Given the description of an element on the screen output the (x, y) to click on. 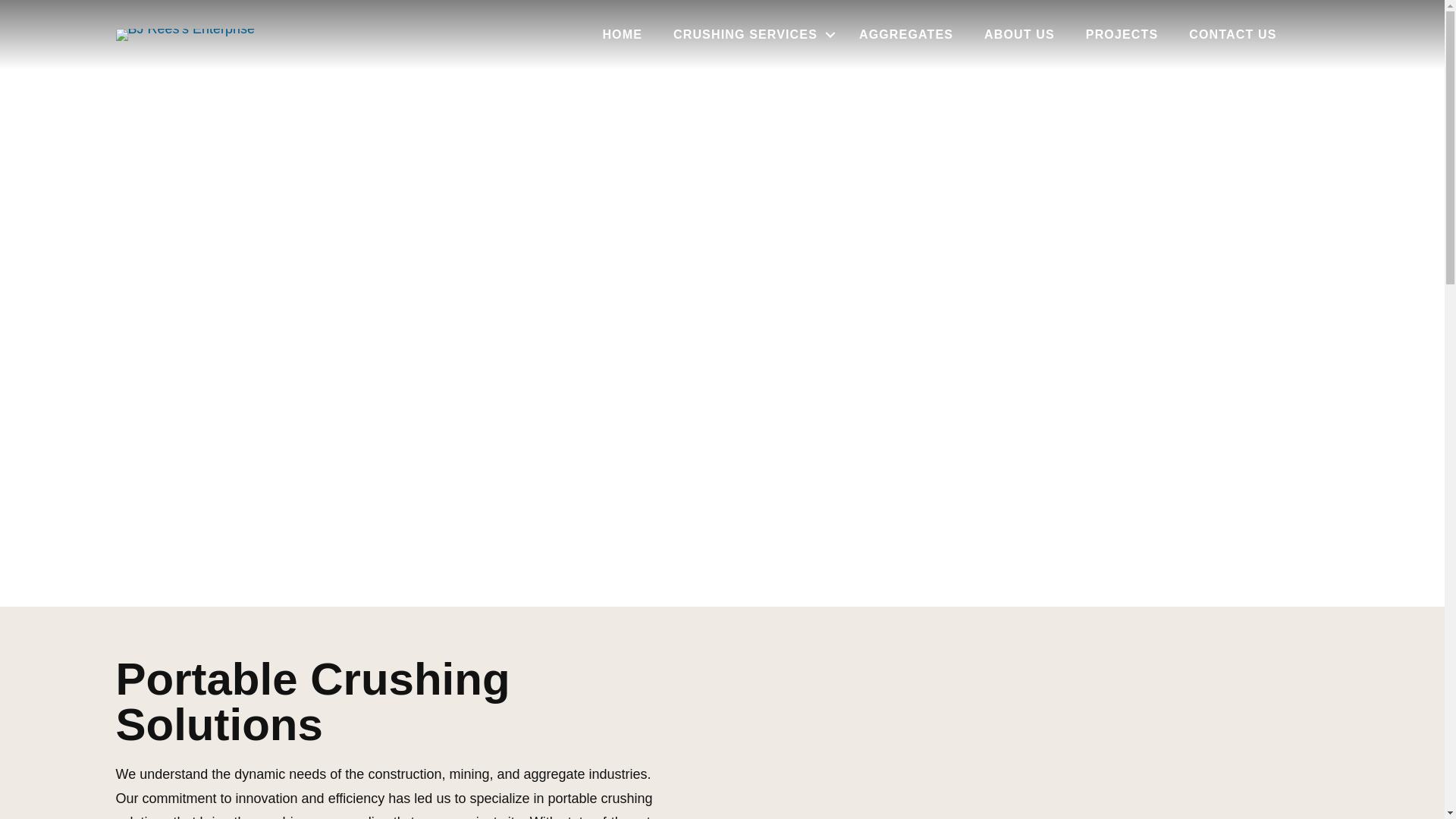
AGGREGATES (906, 34)
CONTACT US (1232, 34)
PROJECTS (1121, 34)
HOME (622, 34)
CRUSHING SERVICES (750, 34)
ABOUT US (1019, 34)
logo-BJ-Reess-Enterprise-white (184, 34)
